Given the description of an element on the screen output the (x, y) to click on. 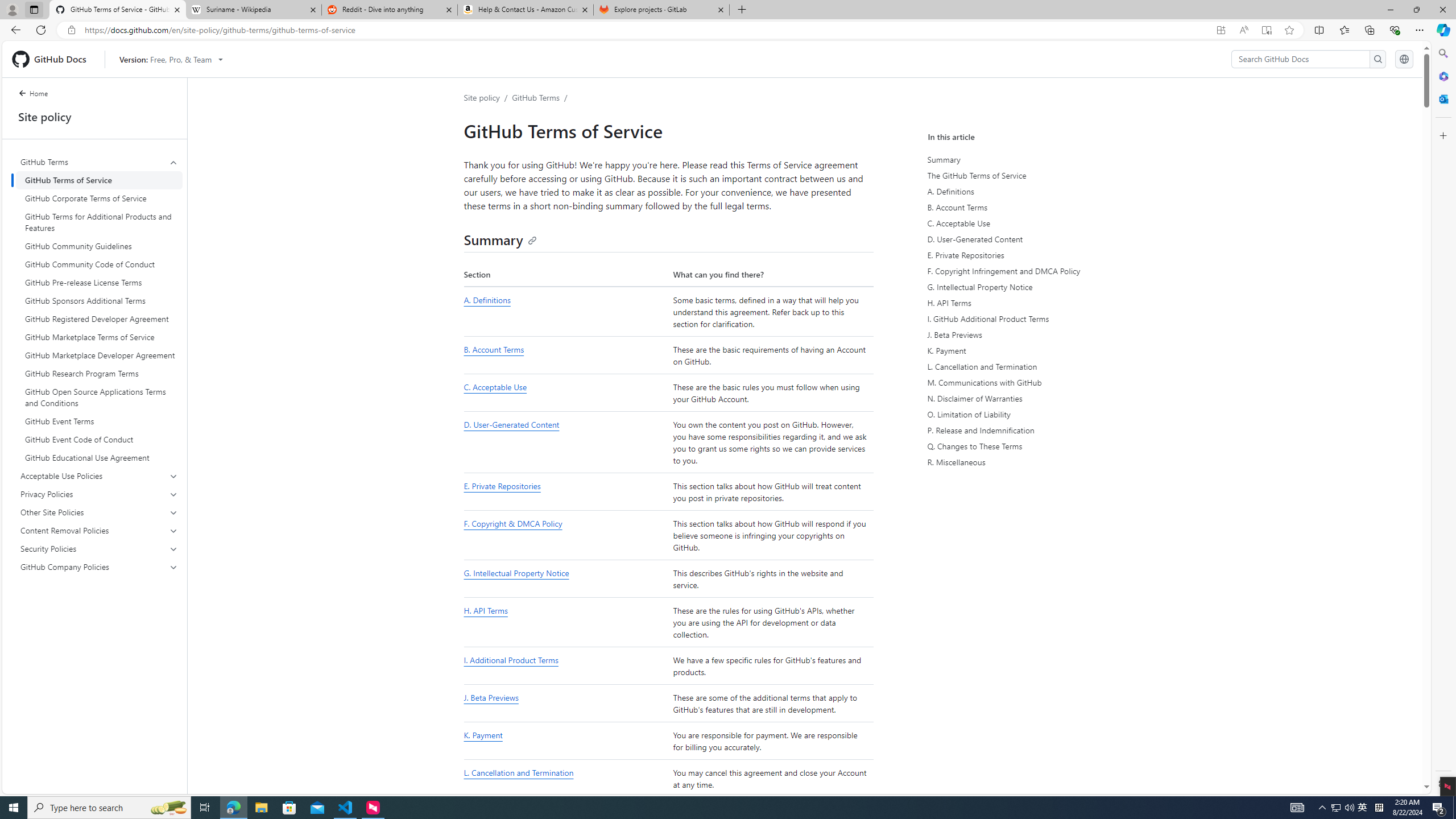
H. API Terms (565, 622)
K. Payment (565, 741)
GitHub Event Terms (99, 420)
Suriname - Wikipedia (253, 9)
GitHub Terms for Additional Products and Features (99, 222)
Q. Changes to These Terms (1032, 446)
GitHub Terms (99, 309)
B. Account Terms (493, 349)
GitHub Open Source Applications Terms and Conditions (99, 396)
K. Payment (1032, 350)
